Given the description of an element on the screen output the (x, y) to click on. 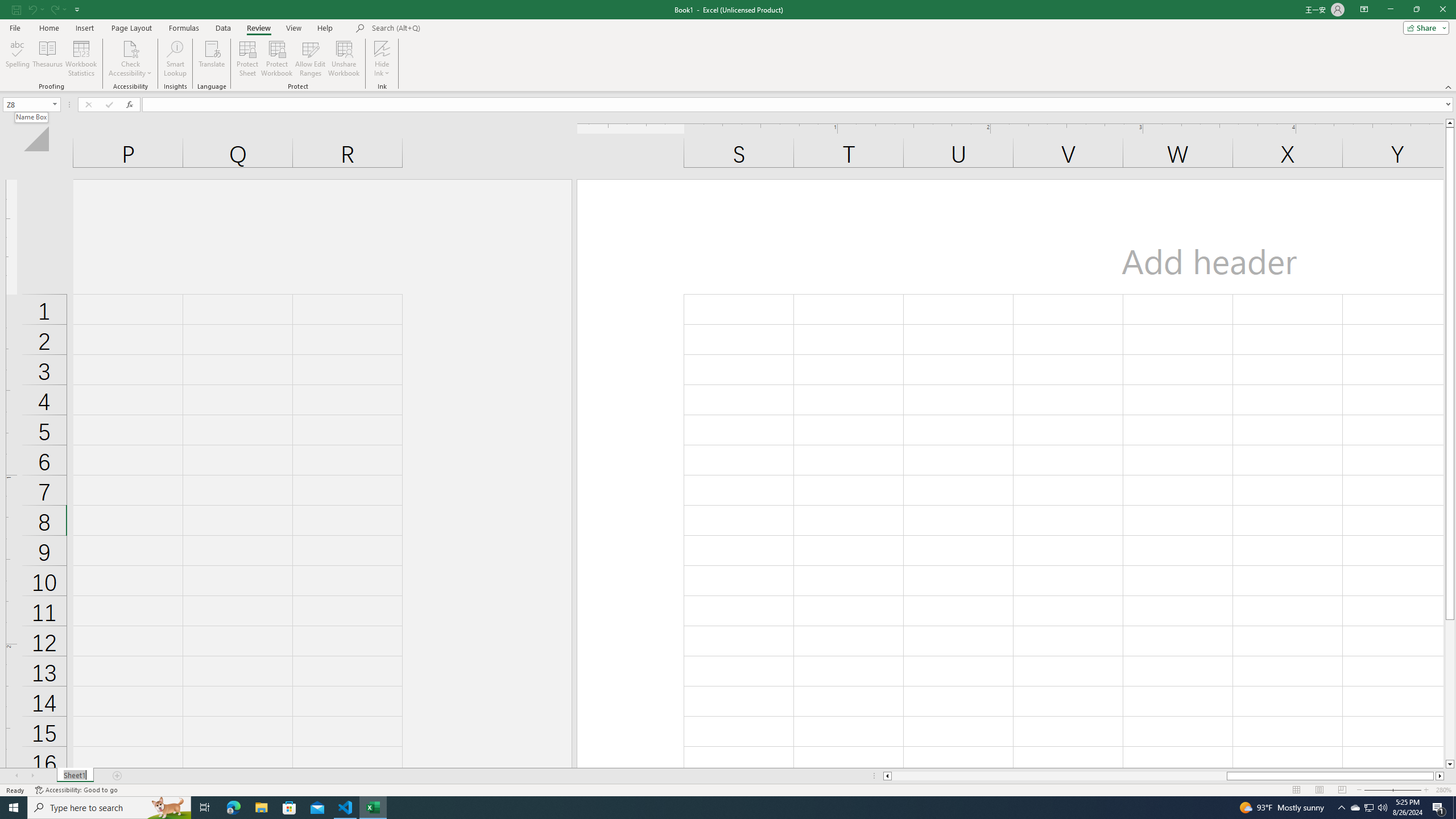
Protect Workbook... (277, 58)
Microsoft search (450, 28)
Thesaurus... (47, 58)
